Given the description of an element on the screen output the (x, y) to click on. 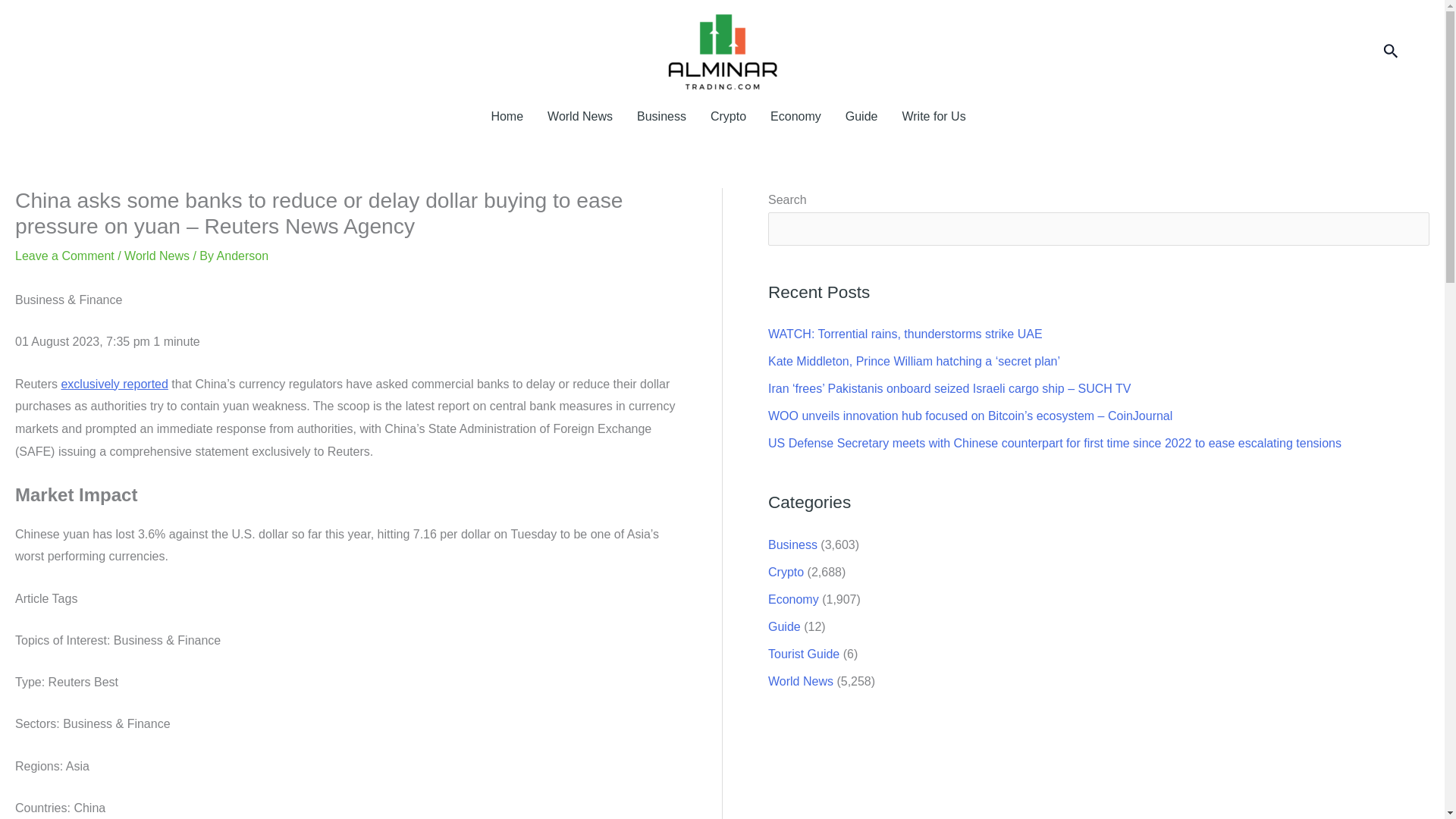
Leave a Comment (64, 255)
WATCH: Torrential rains, thunderstorms strike UAE (905, 333)
World News (156, 255)
Economy (793, 599)
Business (792, 544)
Guide (784, 626)
Business (661, 116)
Economy (795, 116)
exclusively reported (114, 383)
Guide (860, 116)
Home (507, 116)
Write for Us (927, 116)
Tourist Guide (804, 653)
Crypto (728, 116)
